Given the description of an element on the screen output the (x, y) to click on. 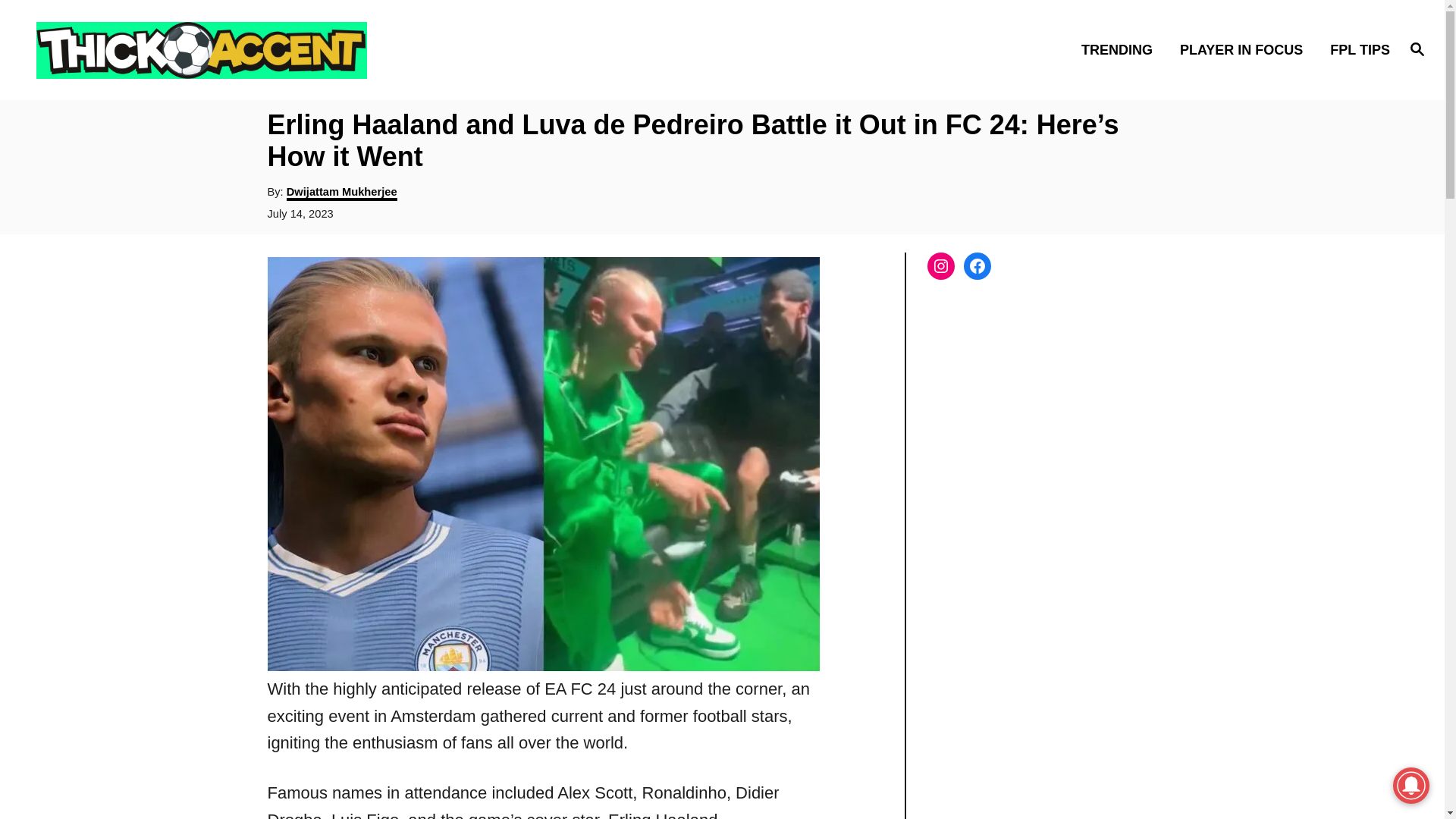
Facebook (976, 266)
Magnifying Glass (1416, 48)
Thick Accent (204, 49)
TRENDING (1120, 49)
Dwijattam Mukherjee (341, 192)
FPL TIPS (1355, 49)
Instagram (939, 266)
PLAYER IN FOCUS (1245, 49)
